Given the description of an element on the screen output the (x, y) to click on. 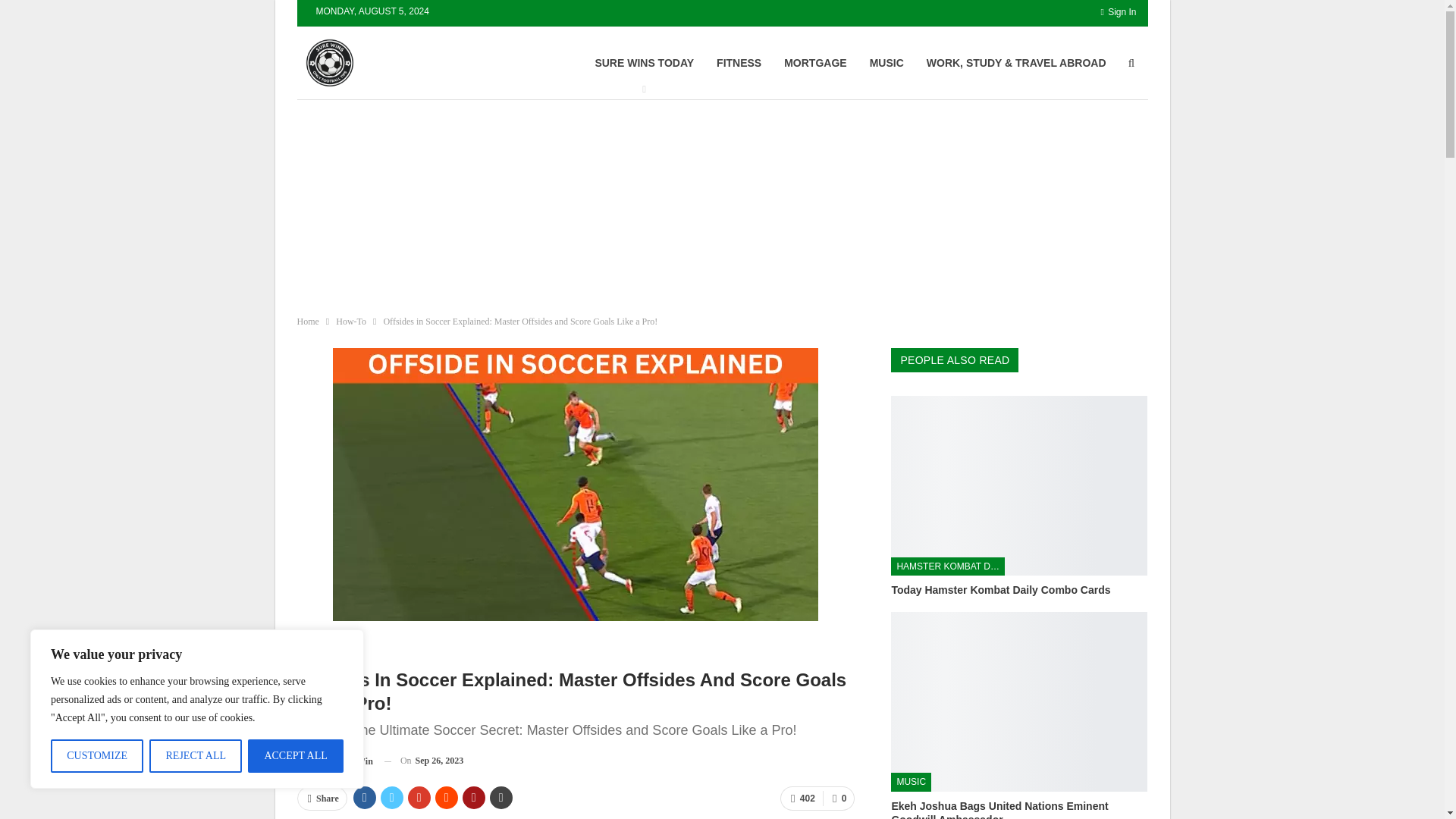
By Sure Win (334, 761)
MORTGAGE (815, 62)
CUSTOMIZE (96, 756)
Browse Author Articles (334, 761)
REJECT ALL (195, 756)
ACCEPT ALL (295, 756)
HOW-TO (321, 647)
0 (839, 798)
SURE WINS TODAY (643, 62)
How-To (351, 321)
